Given the description of an element on the screen output the (x, y) to click on. 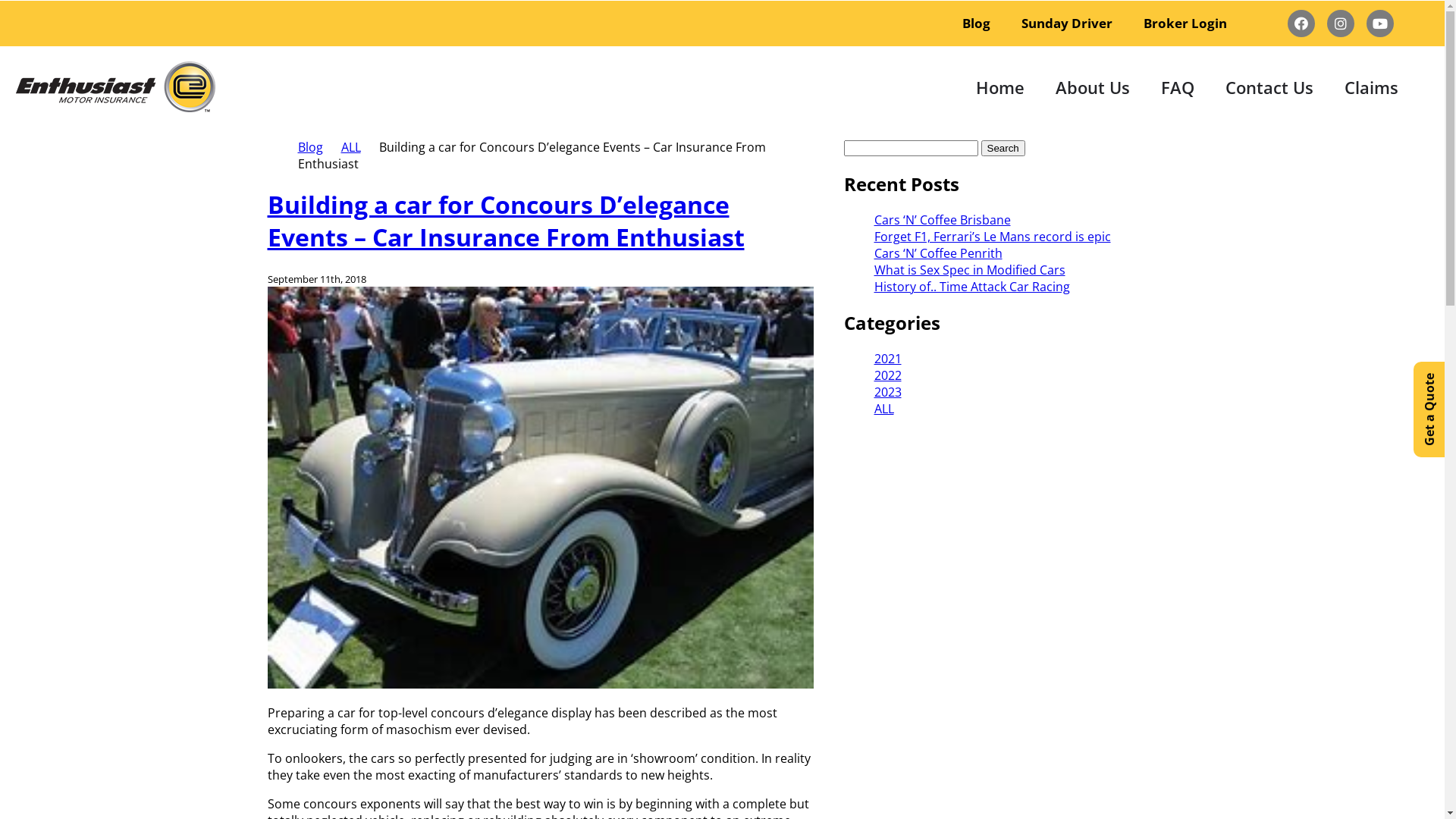
History of.. Time Attack Car Racing Element type: text (971, 286)
2021 Element type: text (886, 358)
Home Element type: text (1000, 87)
ALL Element type: text (883, 408)
ALL Element type: text (350, 146)
2023 Element type: text (886, 391)
FAQ Element type: text (1177, 87)
Search Element type: text (1003, 148)
Claims Element type: text (1371, 87)
Blog Element type: text (309, 146)
Sunday Driver Element type: text (1067, 23)
2022 Element type: text (886, 375)
Blog Element type: text (976, 23)
Contact Us Element type: text (1269, 87)
What is Sex Spec in Modified Cars Element type: text (968, 269)
About Us Element type: text (1092, 87)
Broker Login Element type: text (1185, 23)
